Given the description of an element on the screen output the (x, y) to click on. 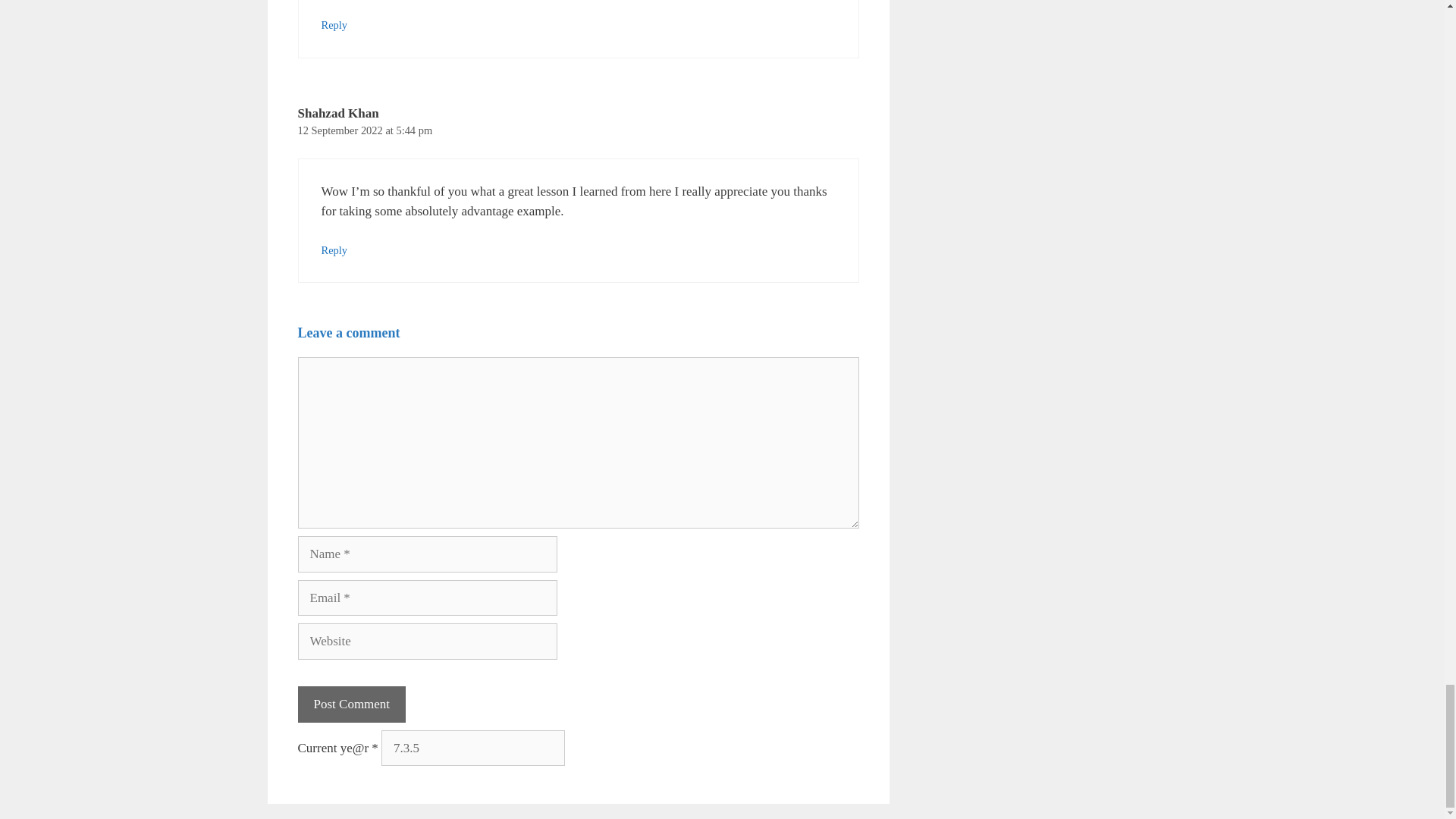
7.3.5 (472, 748)
Post Comment (351, 704)
